Given the description of an element on the screen output the (x, y) to click on. 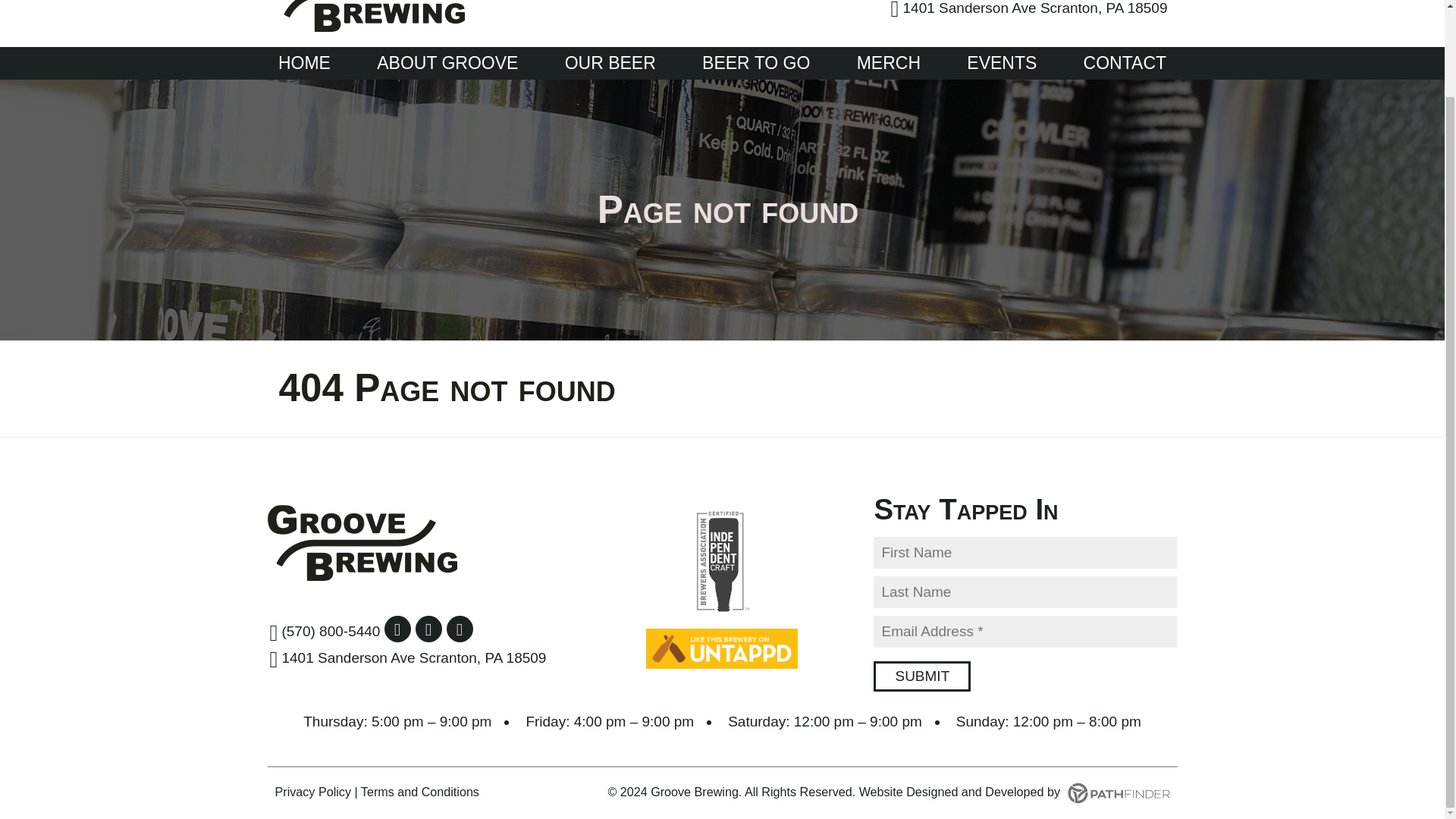
Yelp (459, 628)
1401 Sanderson Ave Scranton, PA 18509 (408, 658)
MERCH (888, 62)
Facebook (397, 628)
1401 Sanderson Ave Scranton, PA 18509 (1029, 10)
Terms and Conditions (420, 791)
BEER TO GO (756, 62)
Privacy Policy (312, 791)
ABOUT GROOVE (446, 62)
Designed and Developed by (1037, 791)
Instagram (428, 628)
Submit (922, 675)
OUR BEER (610, 62)
HOME (304, 62)
Submit (922, 675)
